Given the description of an element on the screen output the (x, y) to click on. 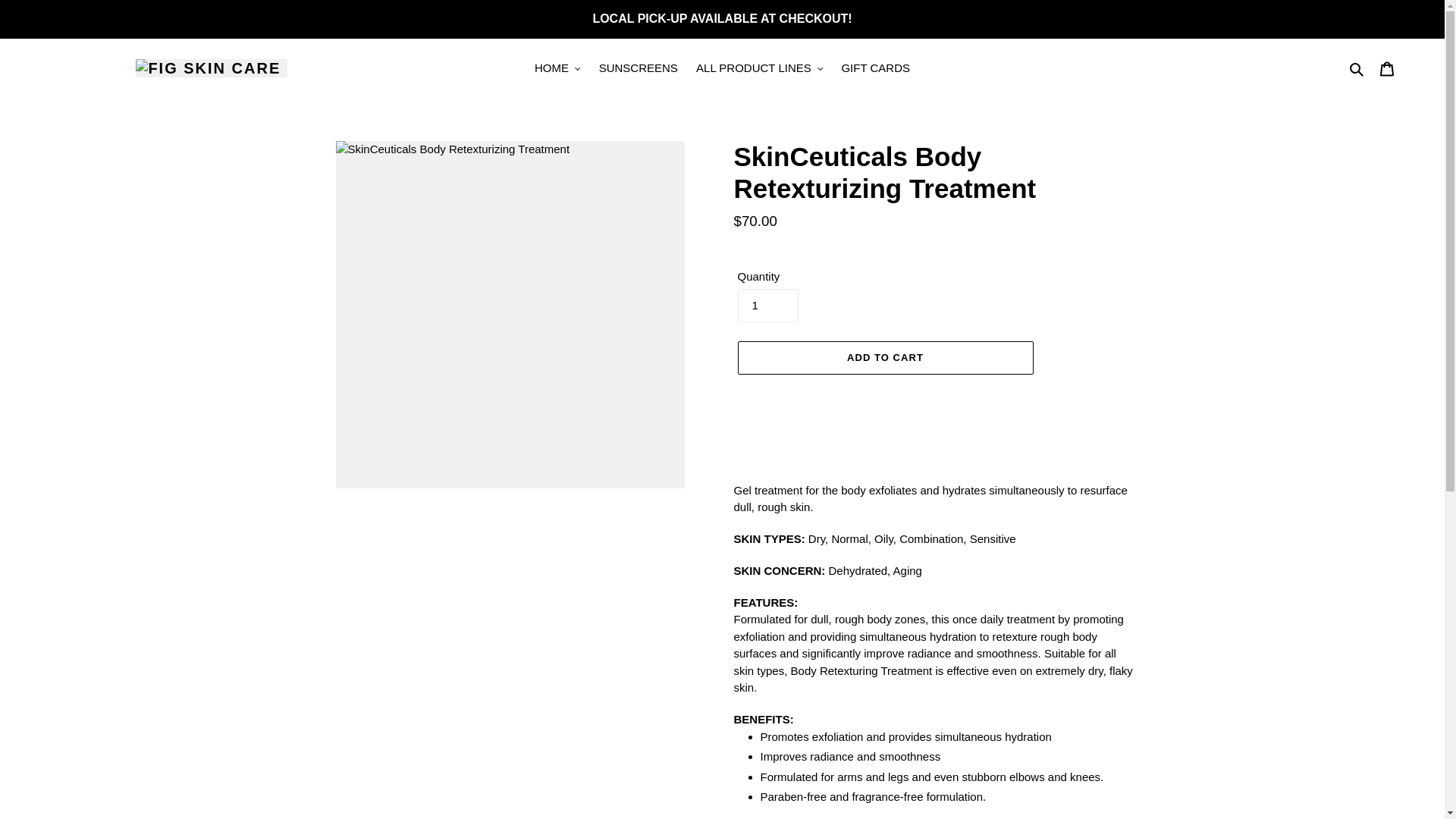
Search (1357, 67)
GIFT CARDS (874, 68)
LOCAL PICK-UP AVAILABLE AT CHECKOUT! (721, 18)
ALL PRODUCT LINES (758, 68)
1 (766, 305)
HOME (557, 68)
SUNSCREENS (638, 68)
Cart (1387, 68)
